Given the description of an element on the screen output the (x, y) to click on. 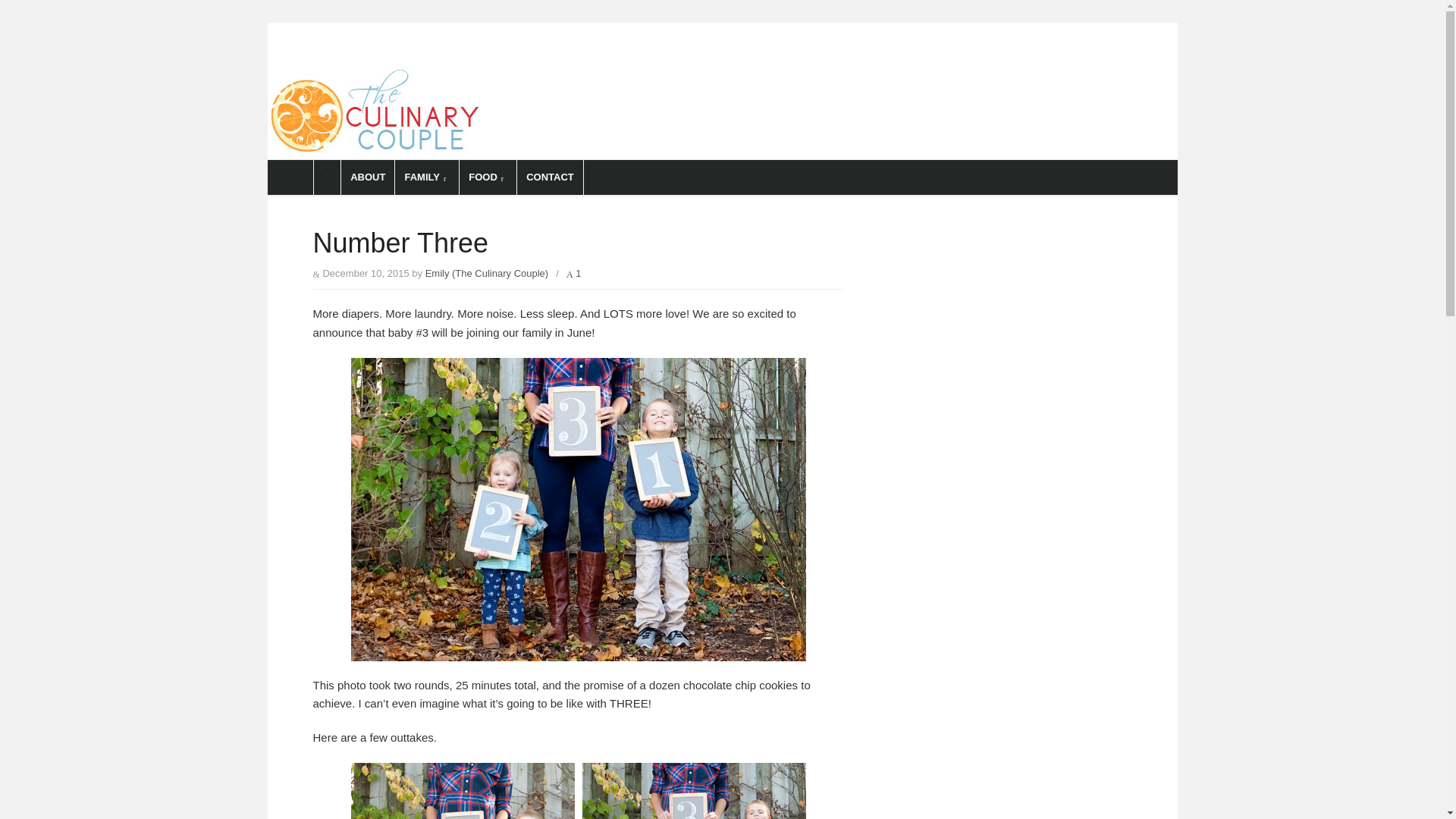
The Culinary Couple (721, 112)
Skip to content (304, 28)
1 (573, 273)
FOOD (487, 176)
December 10, 2015 (365, 273)
FAMILY (426, 176)
CONTACT (549, 176)
The Culinary Couple (423, 81)
ABOUT (367, 176)
